Given the description of an element on the screen output the (x, y) to click on. 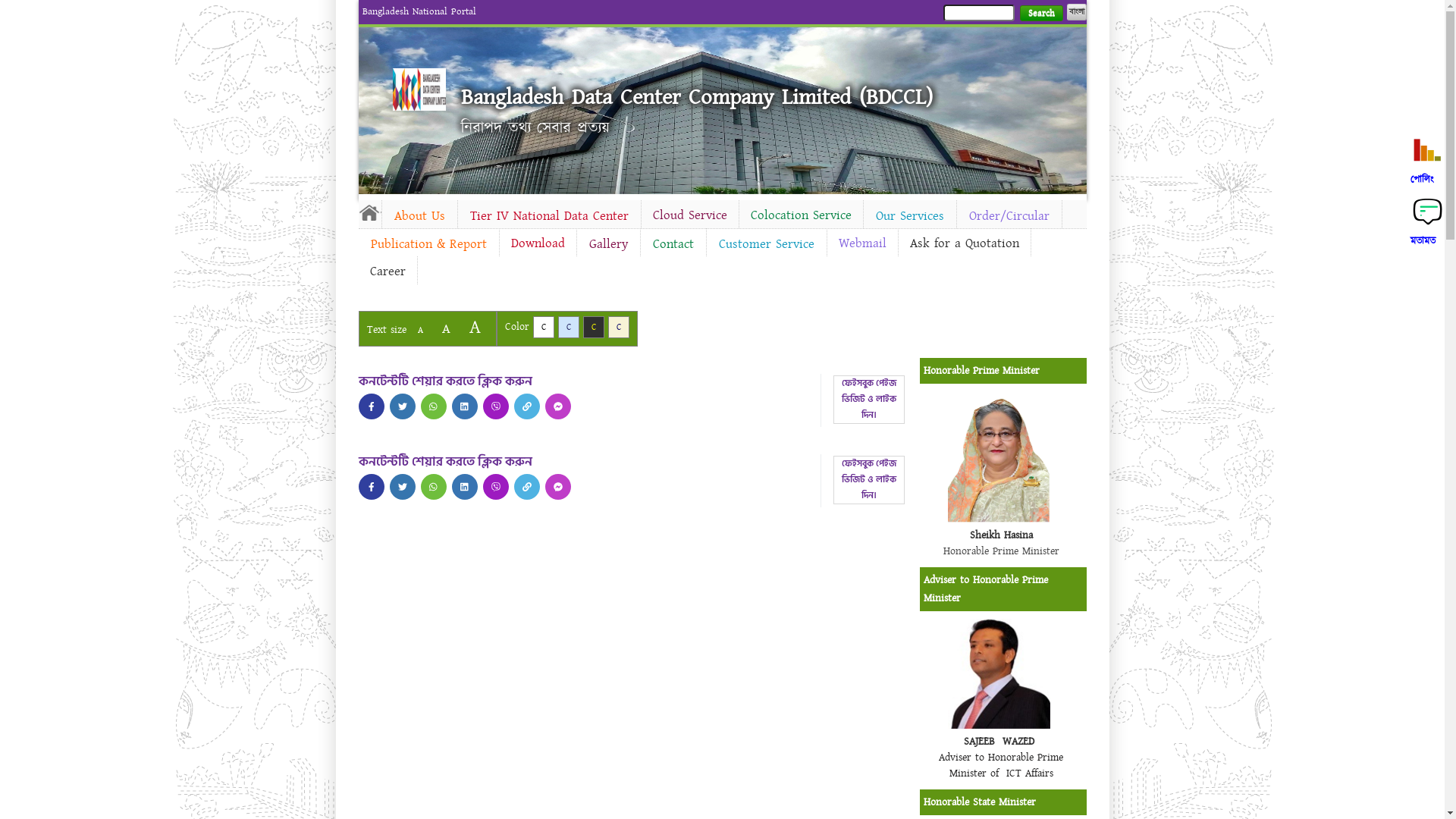
C Element type: text (542, 327)
A Element type: text (474, 327)
Home Element type: hover (418, 89)
Download Element type: text (536, 243)
Publication & Report Element type: text (427, 244)
Home Element type: hover (368, 211)
Our Services Element type: text (908, 216)
Search Element type: text (1040, 13)
Bangladesh Data Center Company Limited (BDCCL) Element type: text (696, 96)
Career Element type: text (386, 271)
Ask for a Quotation Element type: text (963, 243)
Customer Service Element type: text (766, 244)
C Element type: text (592, 327)
A Element type: text (445, 328)
C Element type: text (618, 327)
A Element type: text (419, 330)
Colocation Service Element type: text (800, 215)
C Element type: text (568, 327)
About Us Element type: text (419, 216)
Cloud Service Element type: text (689, 215)
Order/Circular Element type: text (1009, 216)
Contact Element type: text (672, 244)
Gallery Element type: text (607, 244)
Bangladesh National Portal Element type: text (419, 11)
Tier IV National Data Center Element type: text (549, 216)
Webmail Element type: text (861, 243)
